Given the description of an element on the screen output the (x, y) to click on. 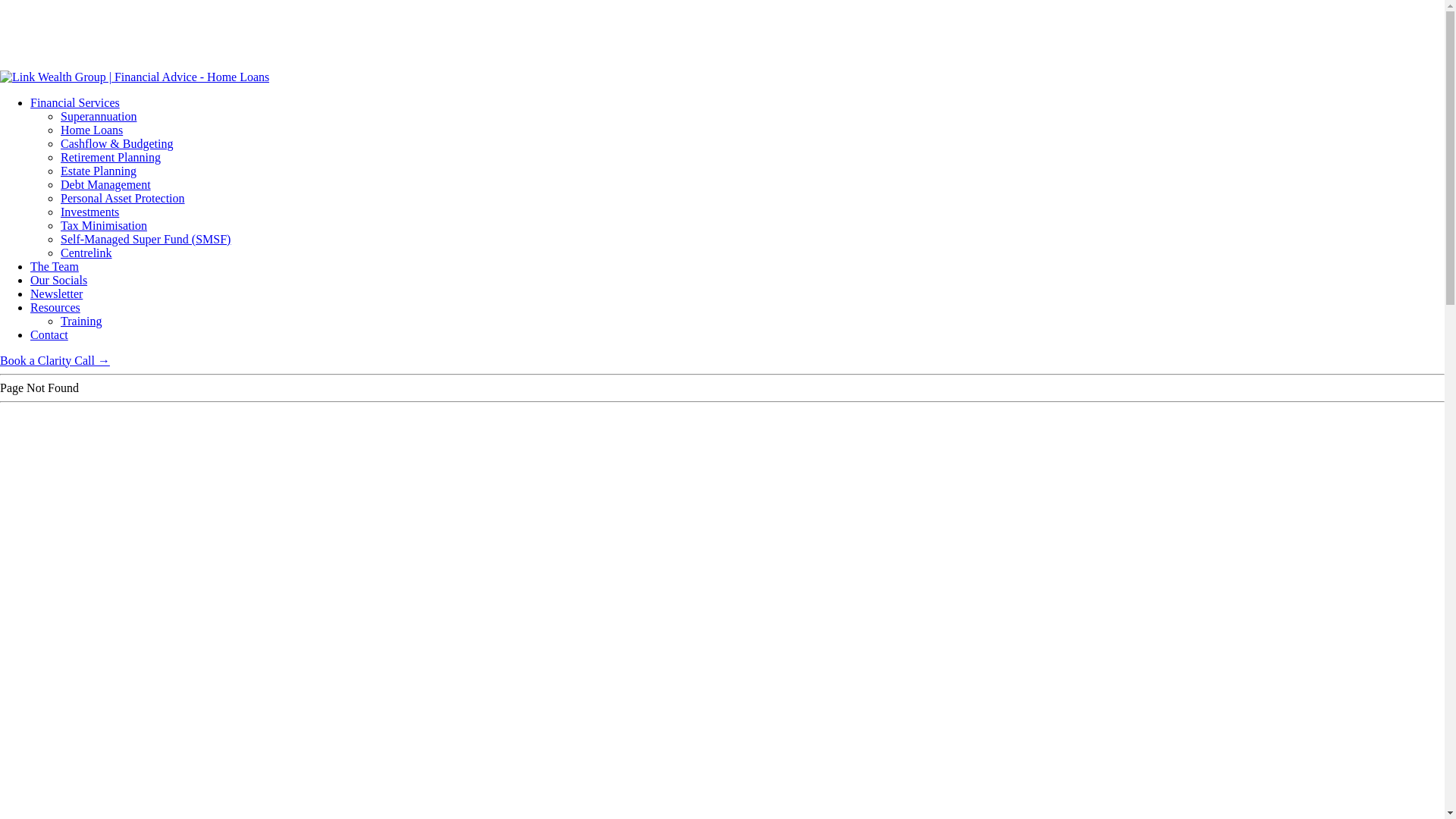
Contact Element type: text (49, 334)
Home Loans Element type: text (91, 129)
Self-Managed Super Fund (SMSF) Element type: text (145, 238)
(03) 9038 8267 Element type: text (37, 34)
Training Element type: text (81, 320)
Financial Services Element type: text (74, 102)
Centrelink Element type: text (86, 252)
Retirement Planning Element type: text (110, 156)
Resources Element type: text (55, 307)
Personal Asset Protection Element type: text (122, 197)
Our Socials Element type: text (58, 279)
Investments Element type: text (89, 211)
Tax Minimisation Element type: text (103, 225)
Newsletter Element type: text (56, 293)
Cashflow & Budgeting Element type: text (116, 143)
The Team Element type: text (54, 266)
Superannuation Element type: text (98, 115)
Debt Management Element type: text (105, 184)
Estate Planning Element type: text (98, 170)
